Given the description of an element on the screen output the (x, y) to click on. 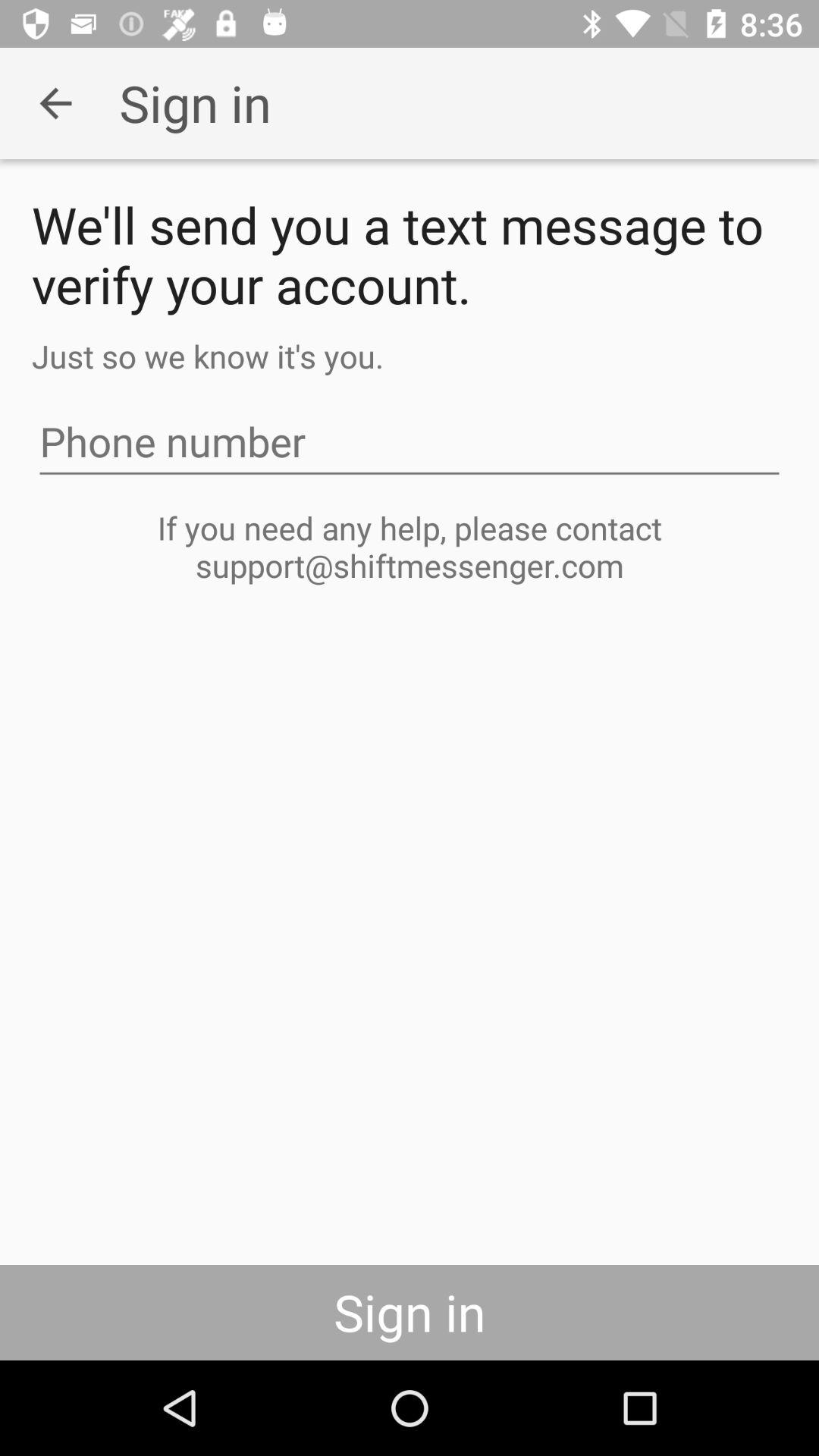
choose the item to the left of the sign in (55, 103)
